Given the description of an element on the screen output the (x, y) to click on. 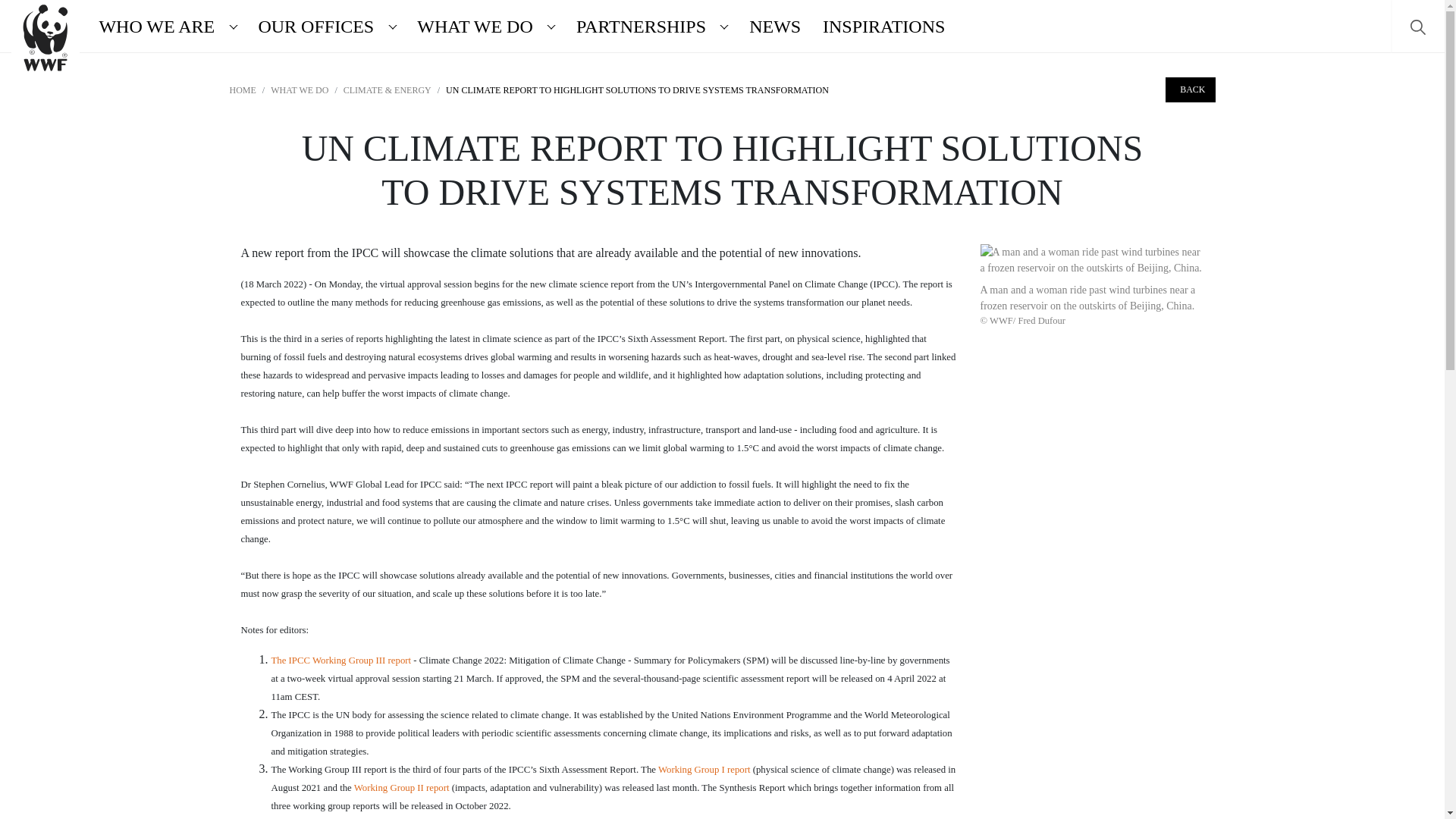
BACK (1190, 89)
Our Offices (312, 26)
WHAT WE DO (471, 26)
PARTNERSHIPS (638, 26)
INSPIRATIONS (884, 26)
HOME (242, 90)
OUR OFFICES (312, 26)
WHO WE ARE (153, 26)
What We Do (471, 26)
NEWS (775, 26)
